Given the description of an element on the screen output the (x, y) to click on. 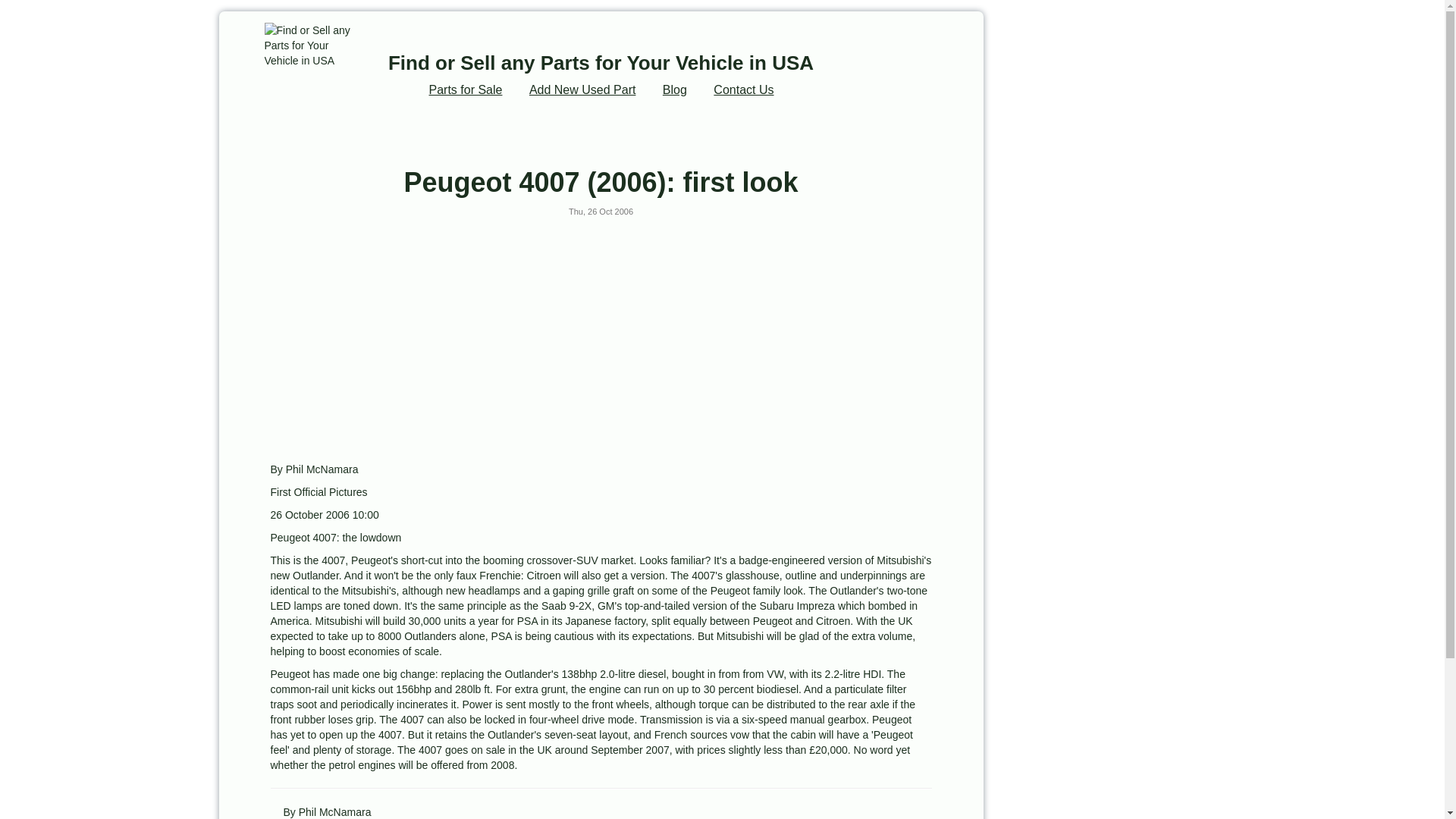
Contact Us (743, 89)
Parts for Sale (465, 89)
Add New Used Part (582, 89)
Blog (674, 89)
